Given the description of an element on the screen output the (x, y) to click on. 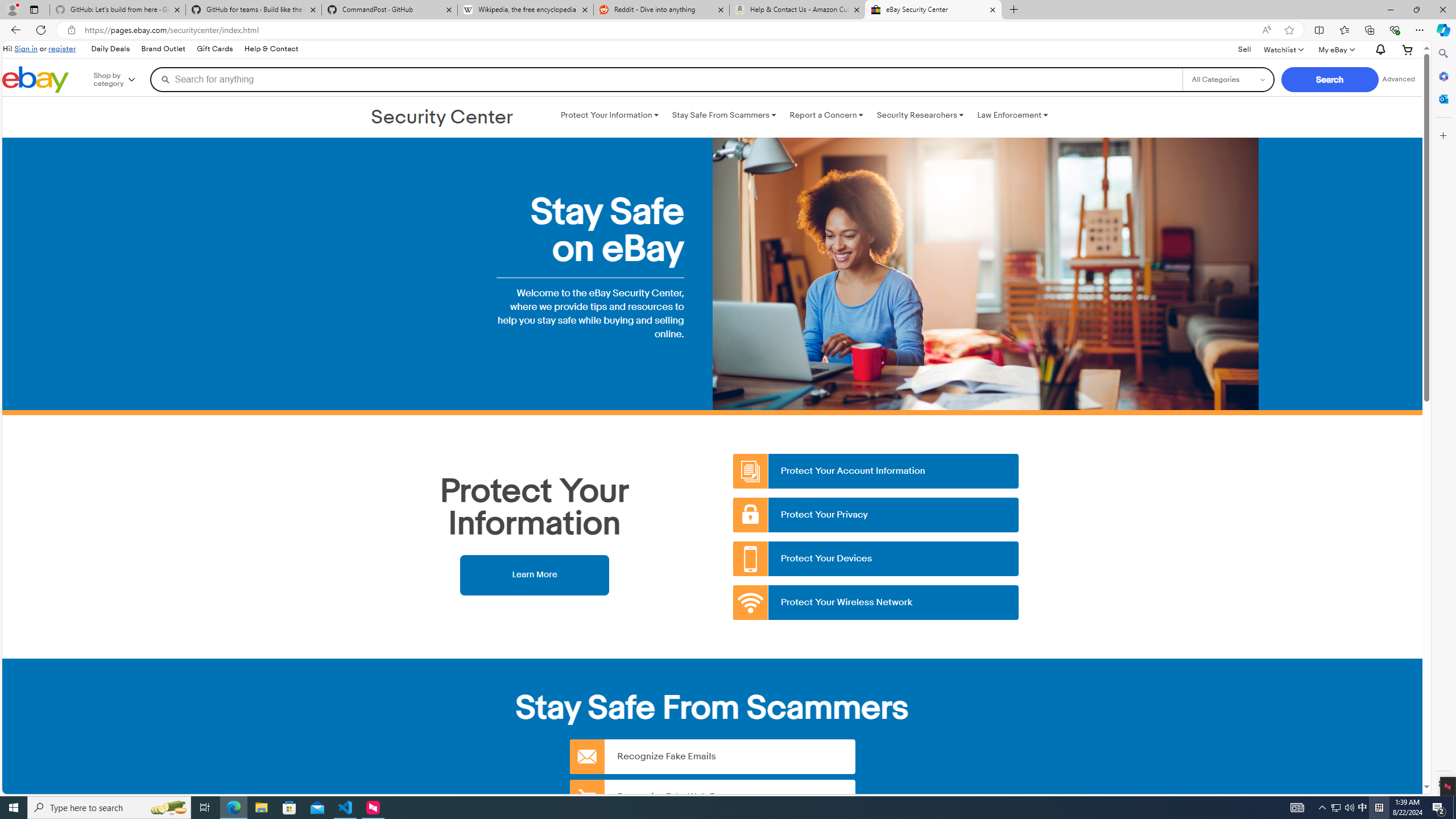
Security Researchers  (919, 115)
Close Outlook pane (1442, 98)
WatchlistExpand Watch List (1282, 49)
Sell (1244, 49)
Search for anything (665, 78)
Daily Deals (109, 49)
Report a Concern  (826, 115)
AutomationID: gh-eb-Alerts (1378, 49)
Search (1442, 53)
eBay Home (35, 79)
